Given the description of an element on the screen output the (x, y) to click on. 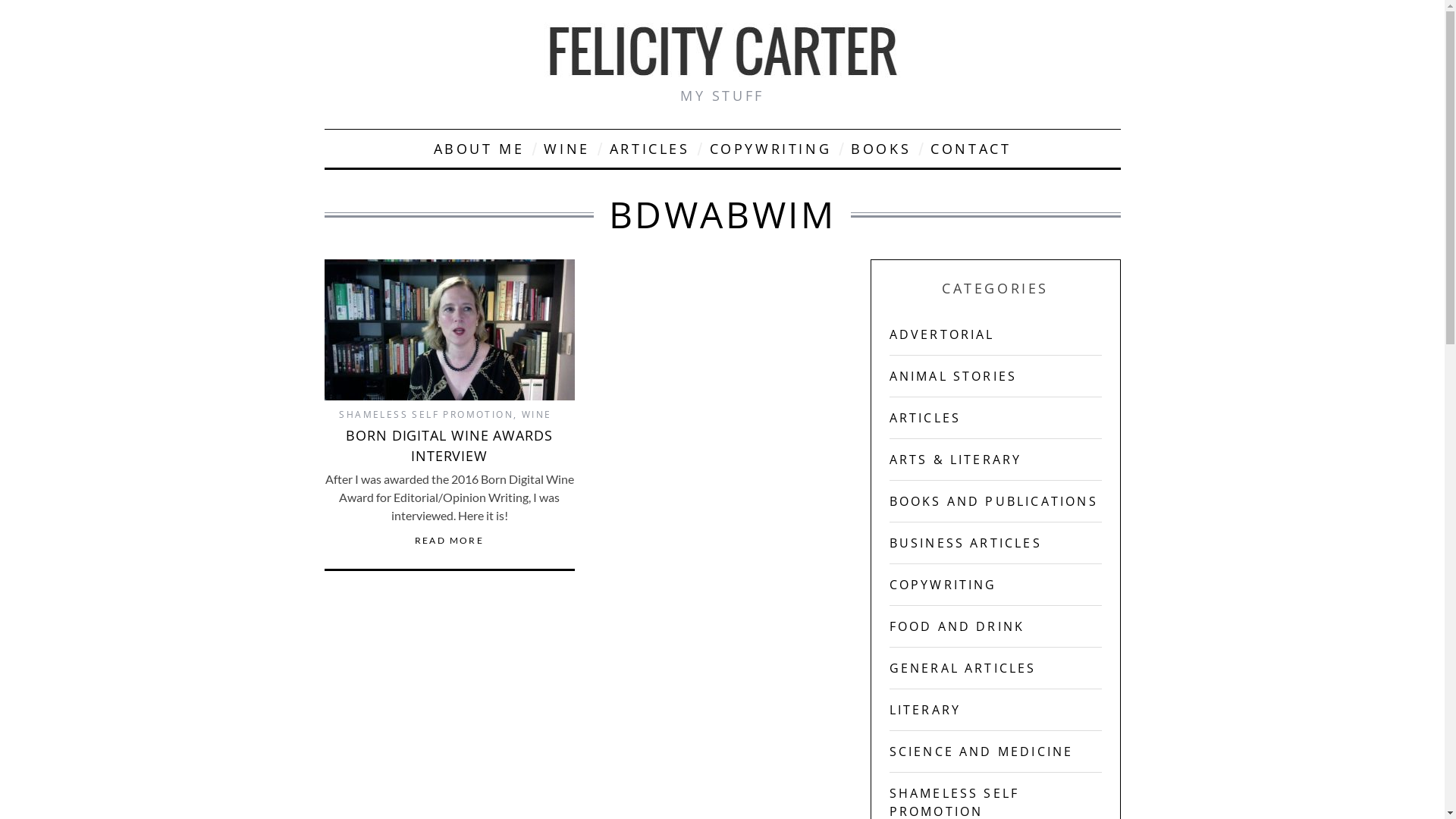
BOOKS AND PUBLICATIONS Element type: text (992, 500)
COPYWRITING Element type: text (942, 584)
BORN DIGITAL WINE AWARDS INTERVIEW Element type: text (448, 445)
ARTICLES Element type: text (924, 417)
ARTS & LITERARY Element type: text (954, 459)
COPYWRITING Element type: text (770, 148)
CONTACT Element type: text (970, 148)
LITERARY Element type: text (924, 709)
BOOKS Element type: text (880, 148)
WINE Element type: text (566, 148)
BUSINESS ARTICLES Element type: text (964, 542)
ANIMAL STORIES Element type: text (952, 375)
ARTICLES Element type: text (649, 148)
READ MORE Element type: text (449, 540)
FOOD AND DRINK Element type: text (956, 626)
ADVERTORIAL Element type: text (941, 334)
WINE Element type: text (536, 413)
SCIENCE AND MEDICINE Element type: text (980, 751)
SHAMELESS SELF PROMOTION Element type: text (425, 413)
GENERAL ARTICLES Element type: text (961, 667)
ABOUT ME Element type: text (479, 148)
